Given the description of an element on the screen output the (x, y) to click on. 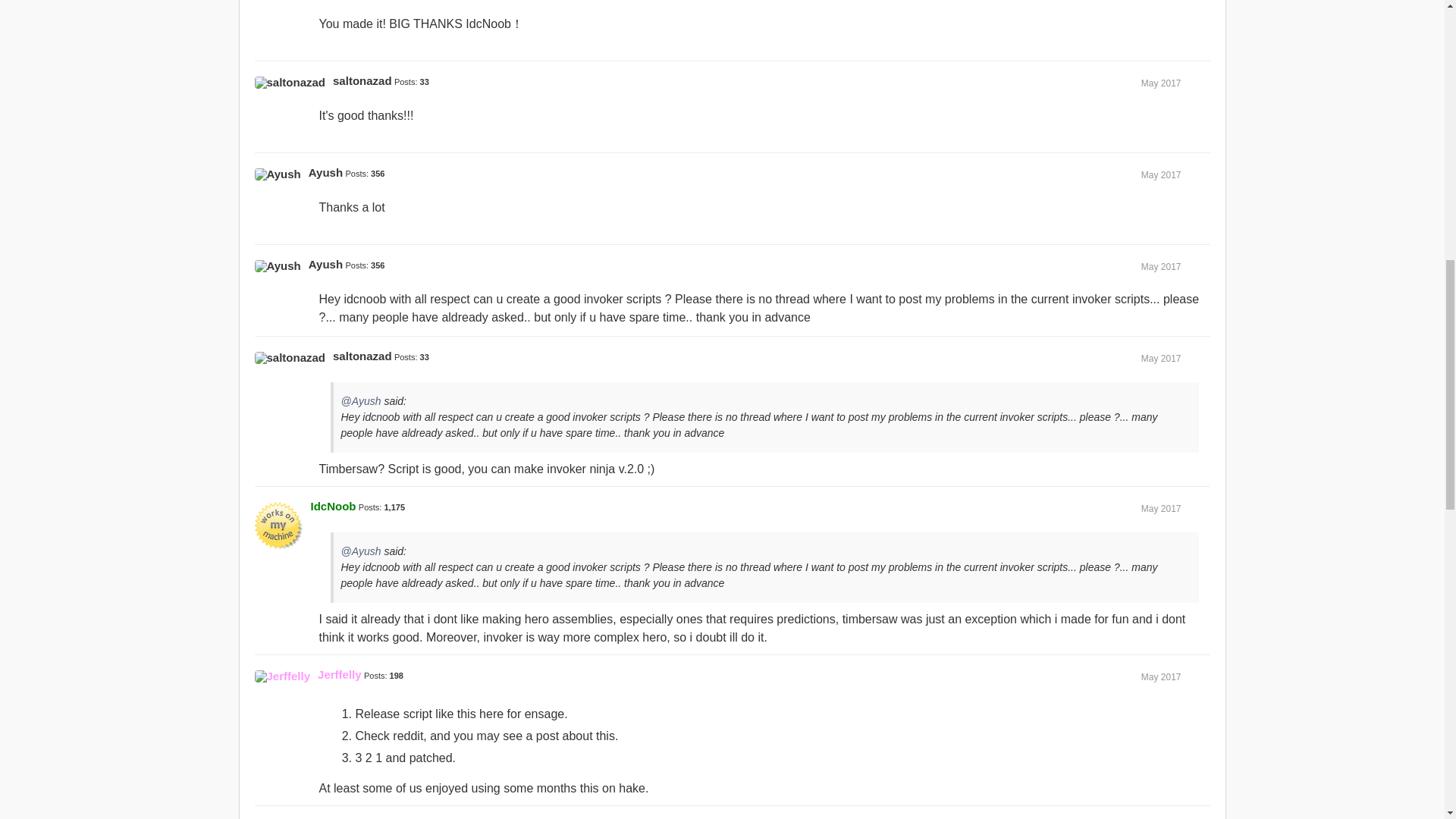
May 2017 (1160, 357)
saltonazad (362, 355)
saltonazad (362, 80)
Ayush (277, 174)
Ayush (325, 172)
May 25, 2017  8:13AM (1160, 266)
Ayush (325, 264)
May 25, 2017  8:06AM (1160, 174)
May 2017 (1160, 82)
May 25, 2017  4:57AM (1160, 82)
